Given the description of an element on the screen output the (x, y) to click on. 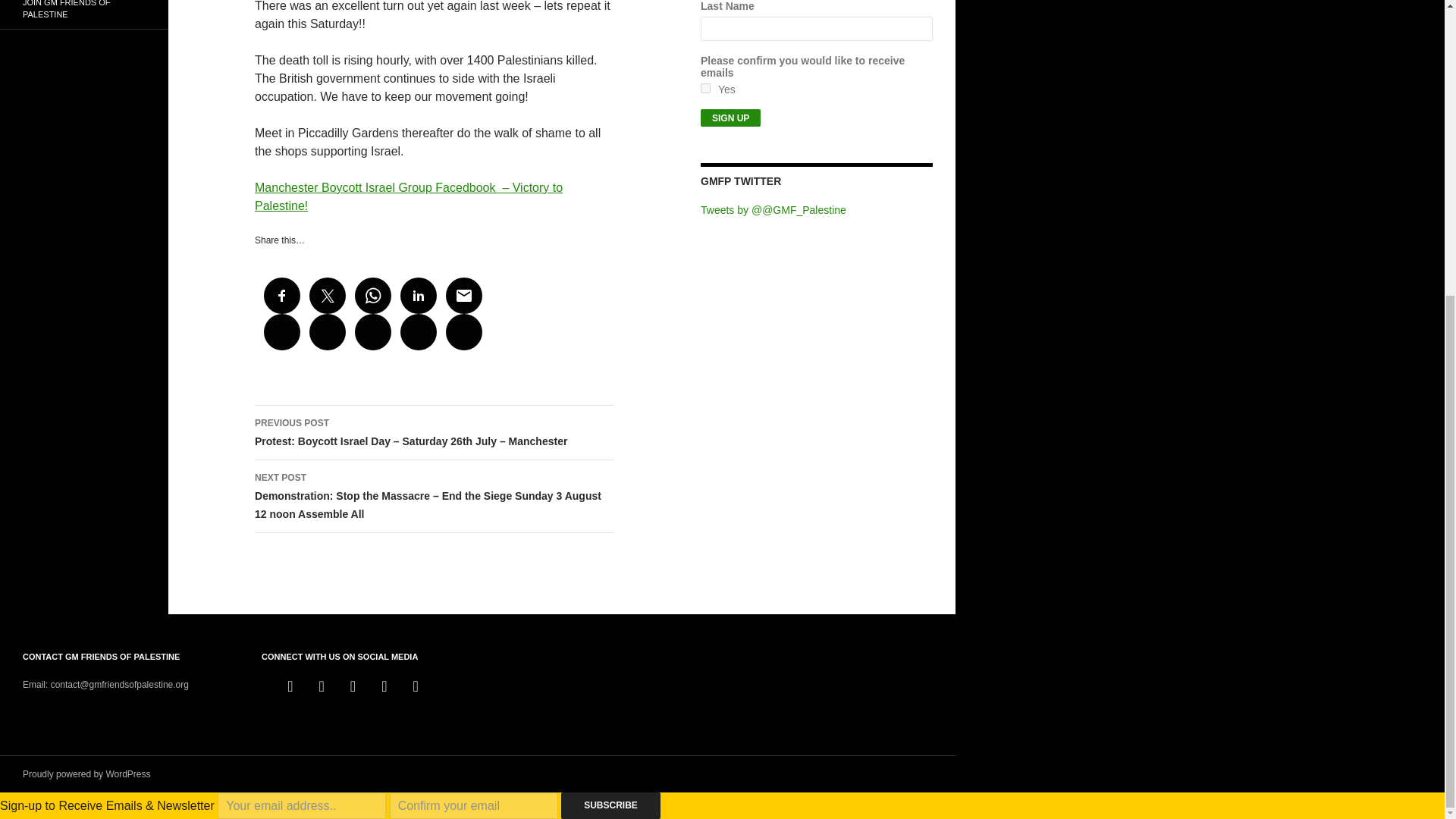
instagram (384, 685)
Sign up (730, 117)
JOIN GM FRIENDS OF PALESTINE (84, 14)
facebook (321, 685)
Default Label (290, 685)
4919ed86cd (705, 88)
Facebook (321, 685)
Sign up (730, 117)
Instagram (384, 685)
youtube (290, 685)
Email (415, 685)
twitter (352, 685)
X (352, 685)
